Given the description of an element on the screen output the (x, y) to click on. 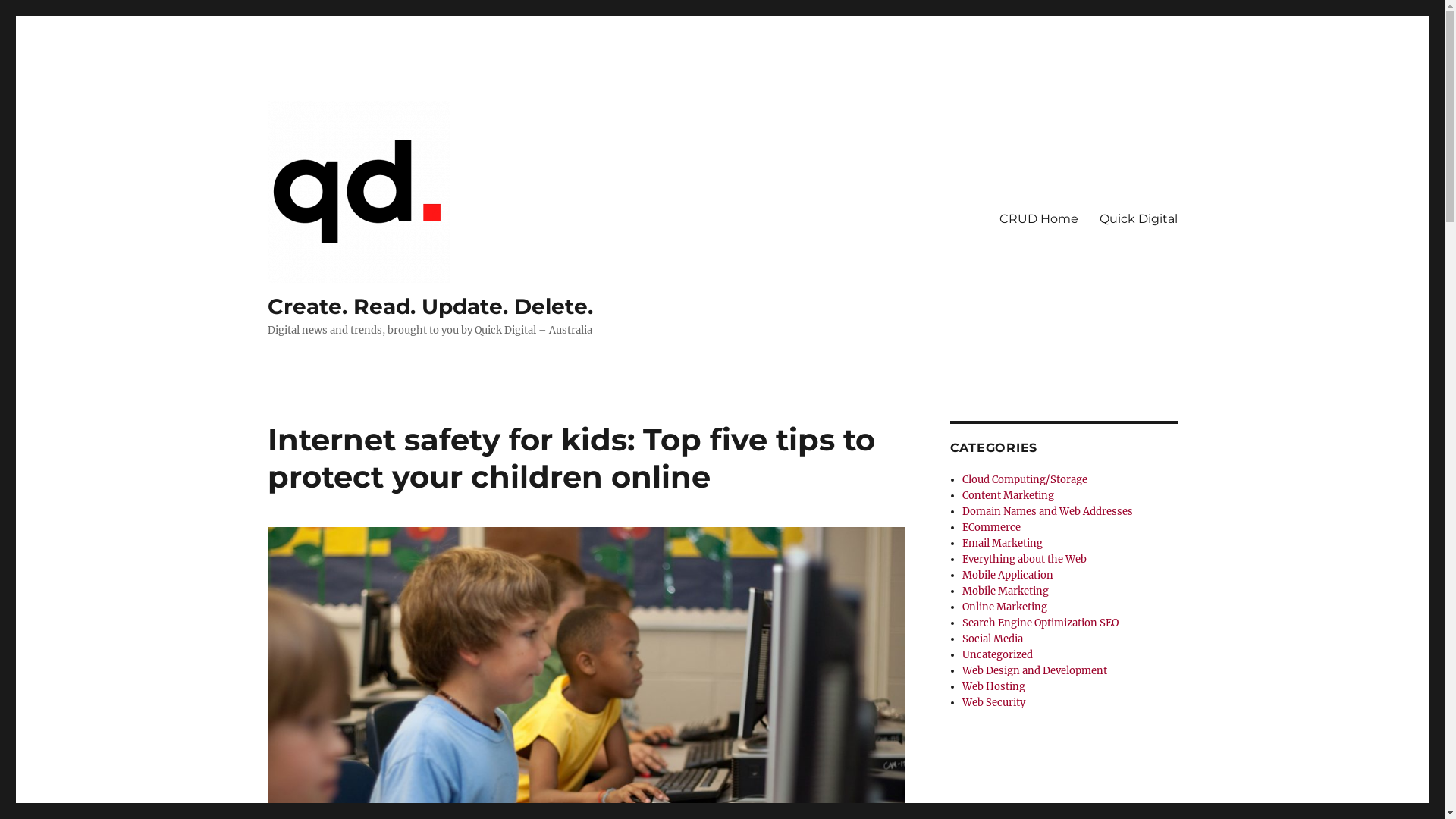
Domain Names and Web Addresses Element type: text (1047, 511)
CRUD Home Element type: text (1038, 218)
Content Marketing Element type: text (1008, 495)
Mobile Application Element type: text (1007, 574)
Quick Digital Element type: text (1138, 218)
Web Design and Development Element type: text (1034, 670)
Search Engine Optimization SEO Element type: text (1040, 622)
Cloud Computing/Storage Element type: text (1024, 479)
Create. Read. Update. Delete. Element type: text (429, 306)
Mobile Marketing Element type: text (1005, 590)
Uncategorized Element type: text (997, 654)
Social Media Element type: text (992, 638)
Web Hosting Element type: text (993, 686)
Online Marketing Element type: text (1004, 606)
Email Marketing Element type: text (1002, 542)
Everything about the Web Element type: text (1024, 558)
ECommerce Element type: text (991, 526)
Web Security Element type: text (993, 702)
